Given the description of an element on the screen output the (x, y) to click on. 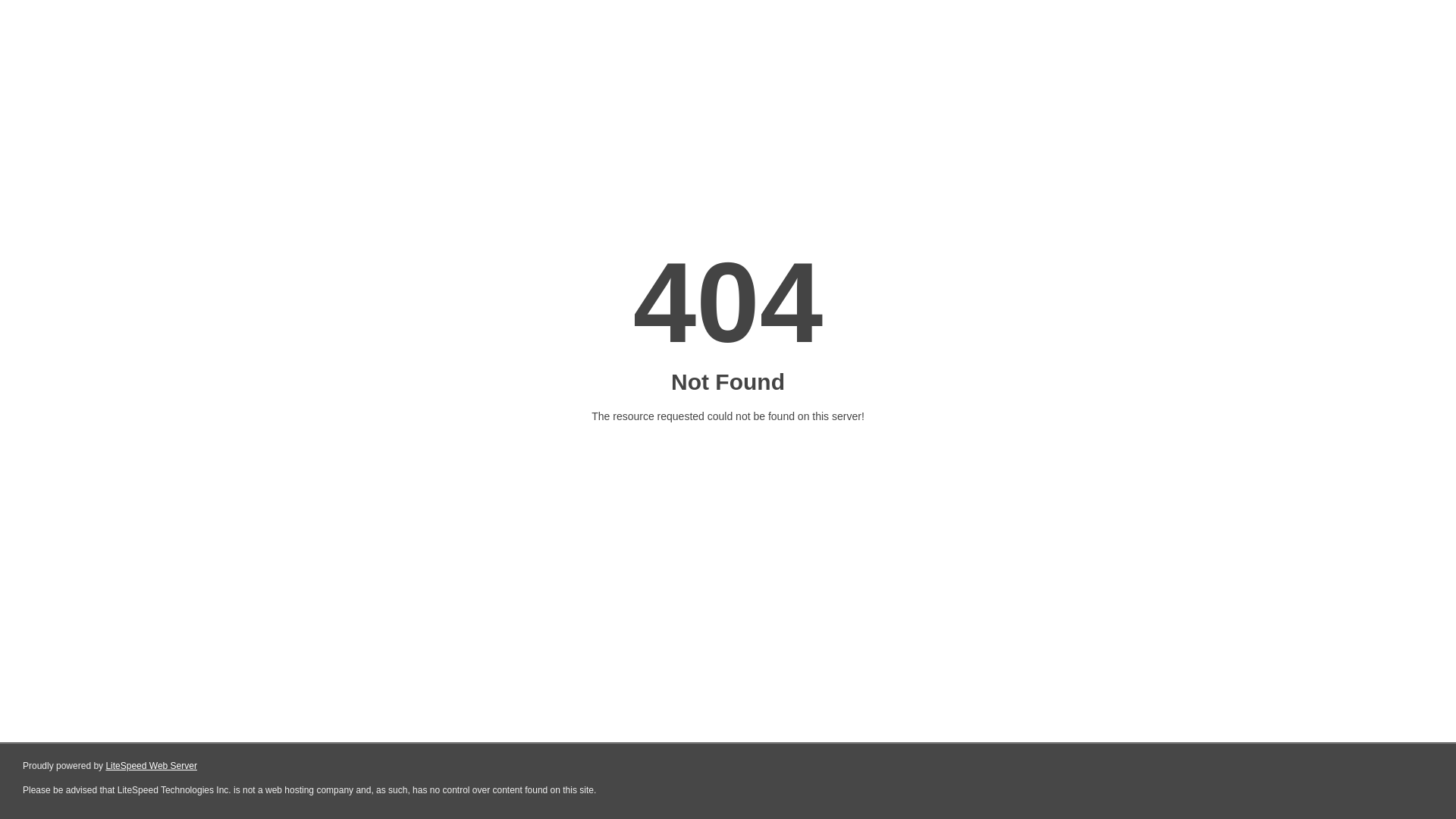
LiteSpeed Web Server Element type: text (151, 765)
